Given the description of an element on the screen output the (x, y) to click on. 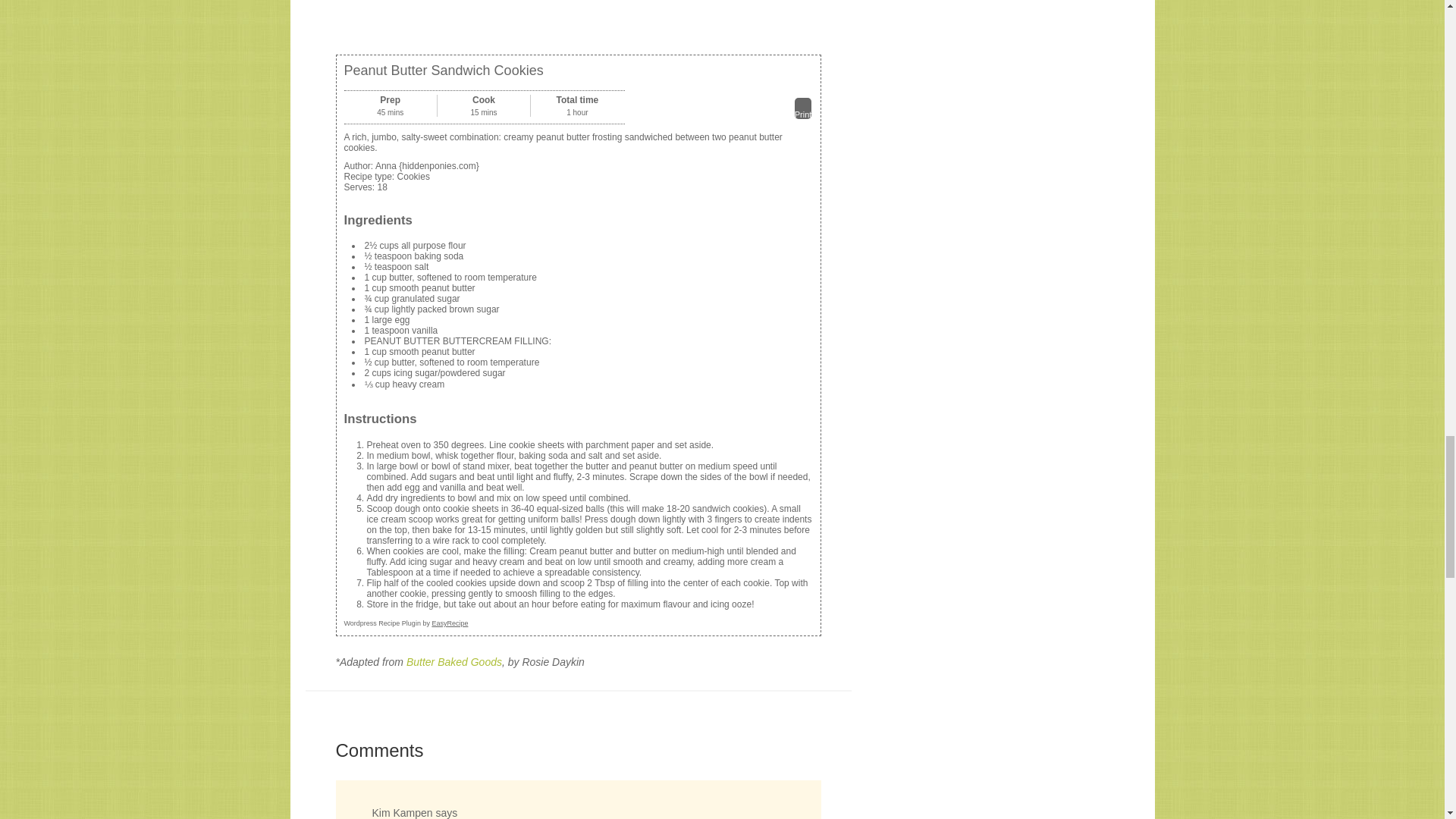
Butter Baked Goods (454, 662)
EasyRecipe Wordpress Recipe Plugin (405, 623)
Wordpress Recipe Plugin by EasyRecipe (405, 623)
